Given the description of an element on the screen output the (x, y) to click on. 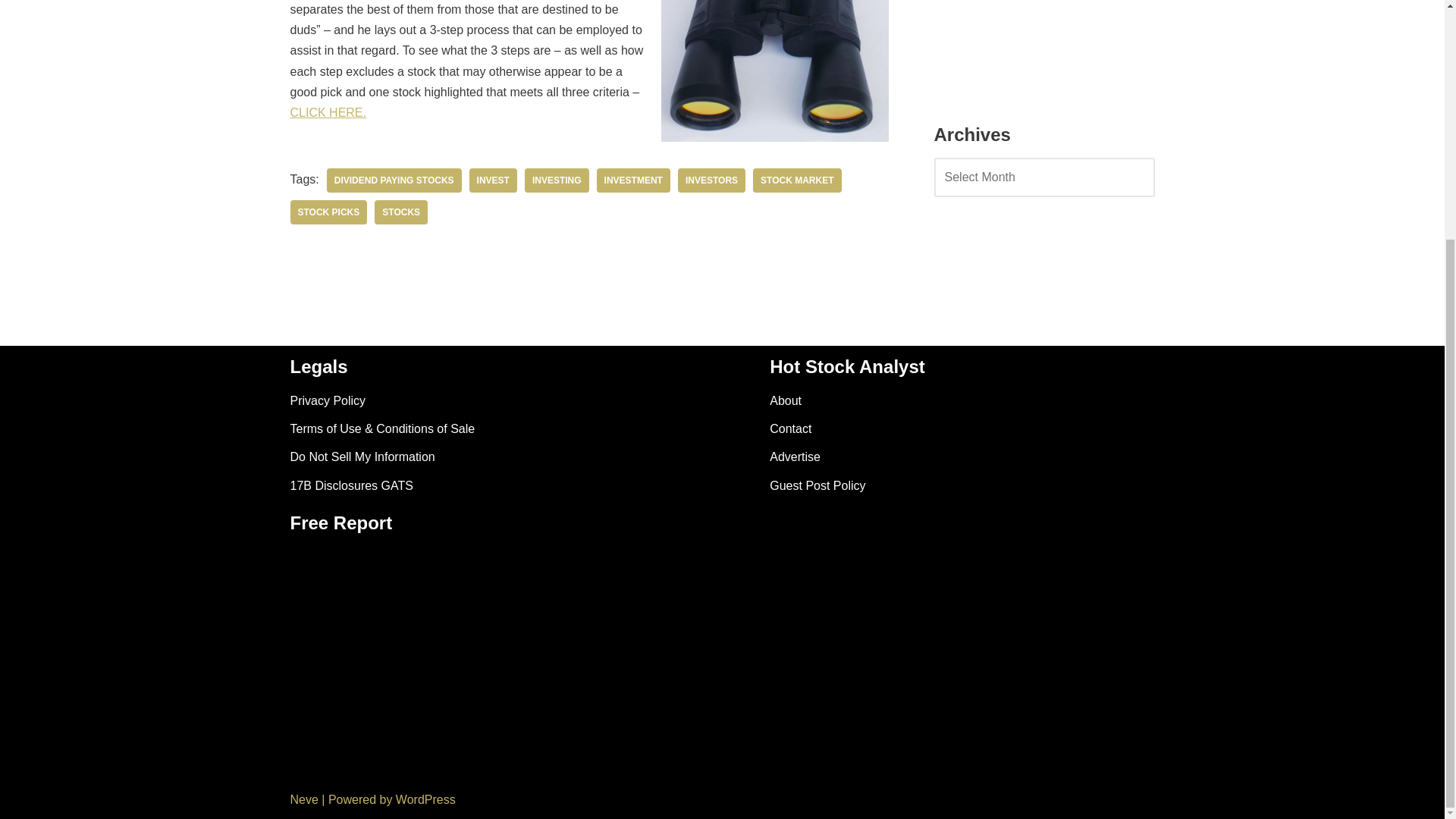
STOCK MARKET (796, 180)
INVESTING (556, 180)
STOCKS (401, 211)
STOCK PICKS (327, 211)
stocks (401, 211)
CLICK HERE. (327, 112)
Privacy Policy (327, 400)
INVEST (492, 180)
Investment (632, 180)
Invest (492, 180)
